Given the description of an element on the screen output the (x, y) to click on. 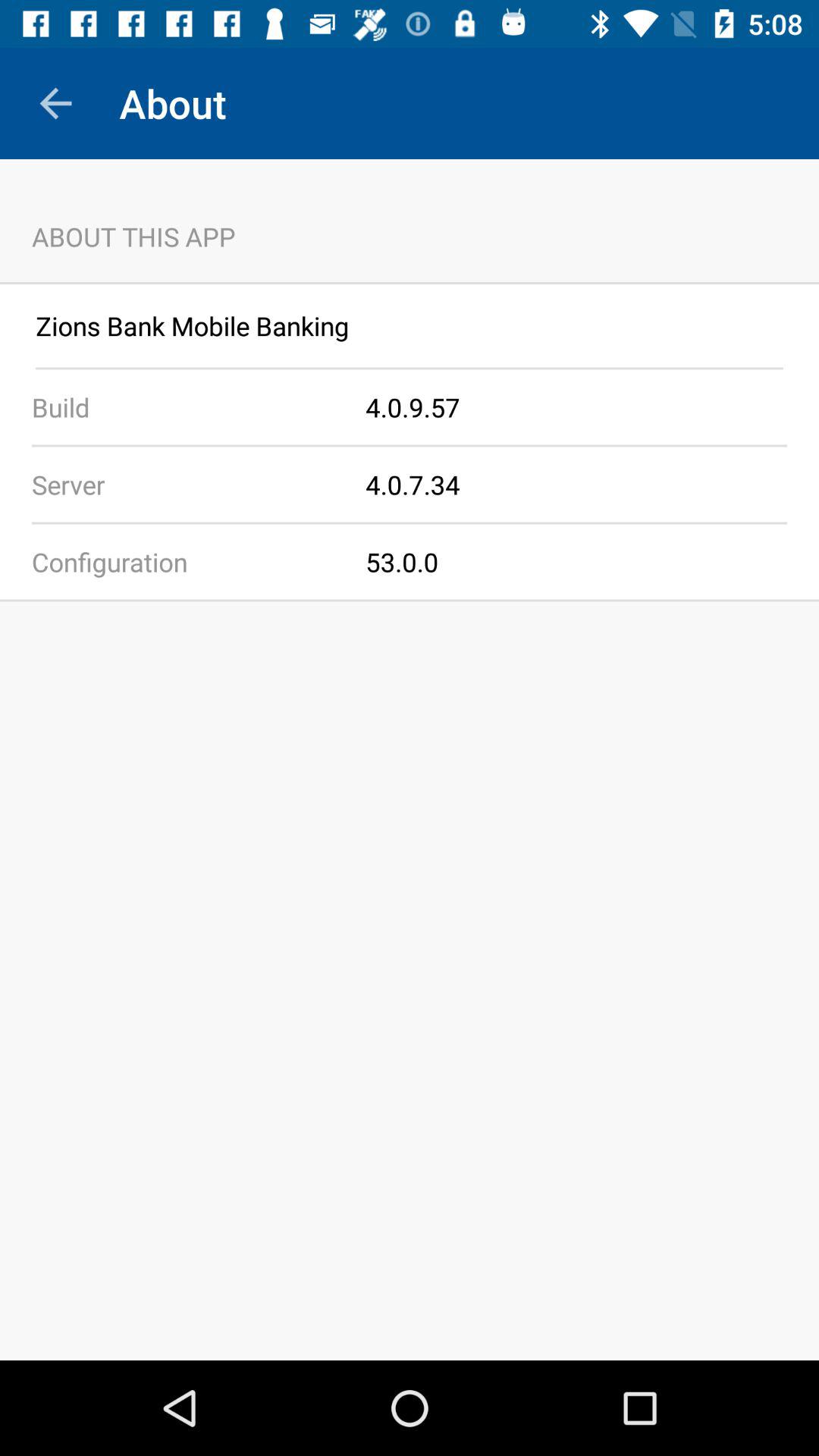
scroll to configuration item (182, 561)
